Given the description of an element on the screen output the (x, y) to click on. 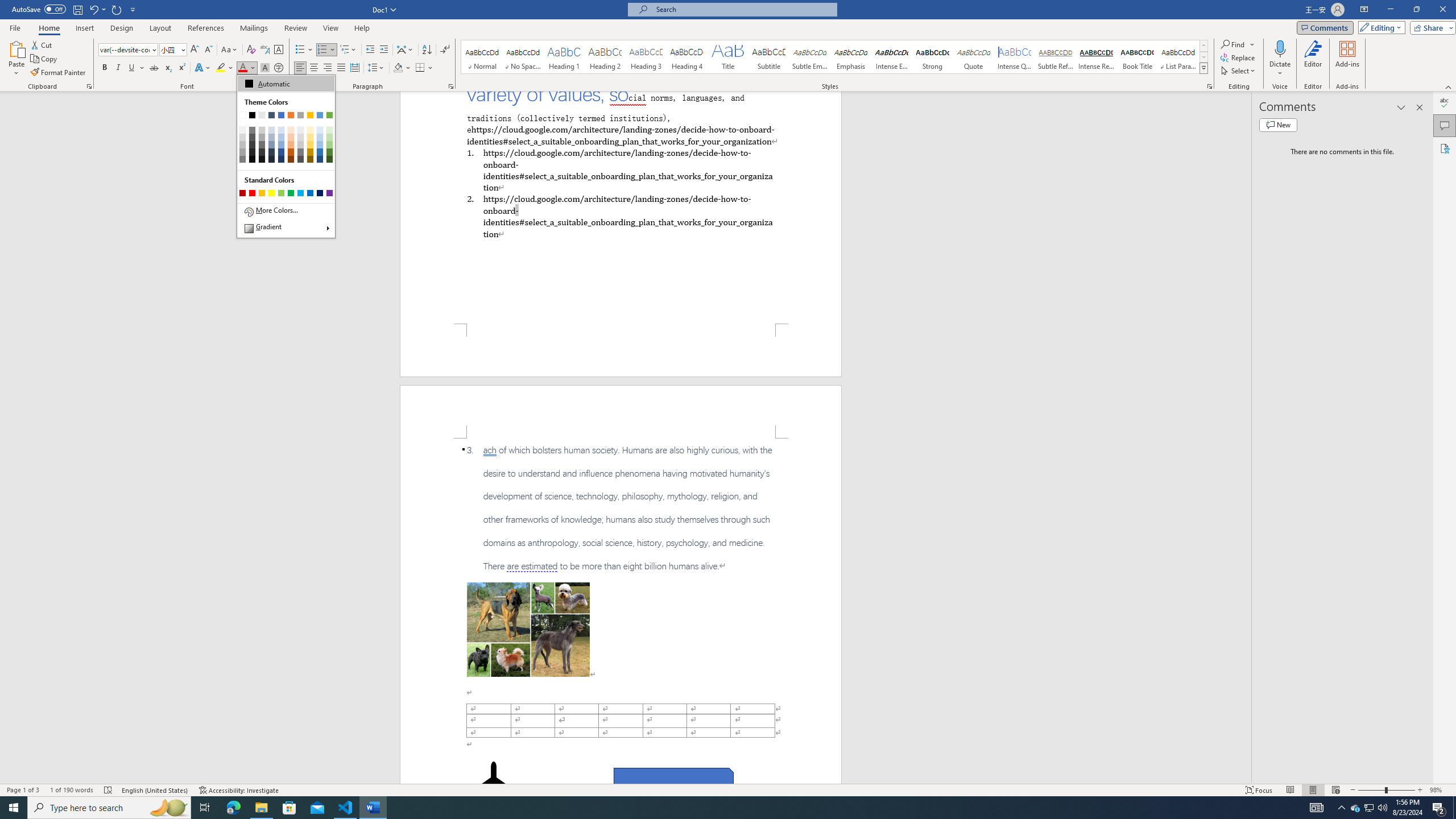
Rectangle: Diagonal Corners Snipped 2 (672, 781)
Running applications (717, 807)
Page 2 content (620, 610)
